Given the description of an element on the screen output the (x, y) to click on. 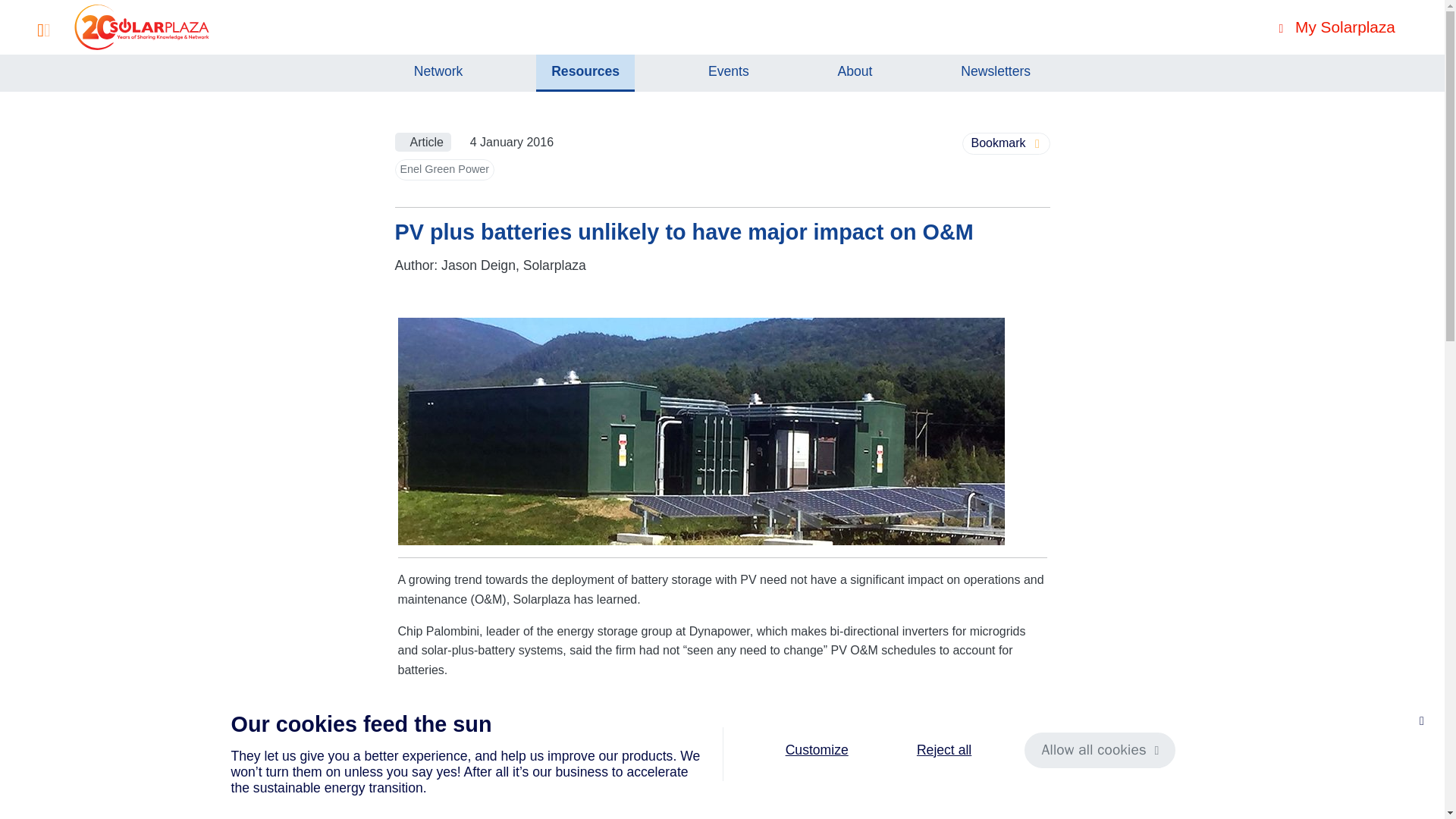
Network (438, 72)
Allow all cookies (1099, 750)
Reject all (944, 750)
Events (728, 72)
Resources (584, 72)
About (854, 72)
Customize (816, 750)
Newsletters (994, 72)
My Solarplaza (1336, 27)
Add bookmark (1005, 143)
